Given the description of an element on the screen output the (x, y) to click on. 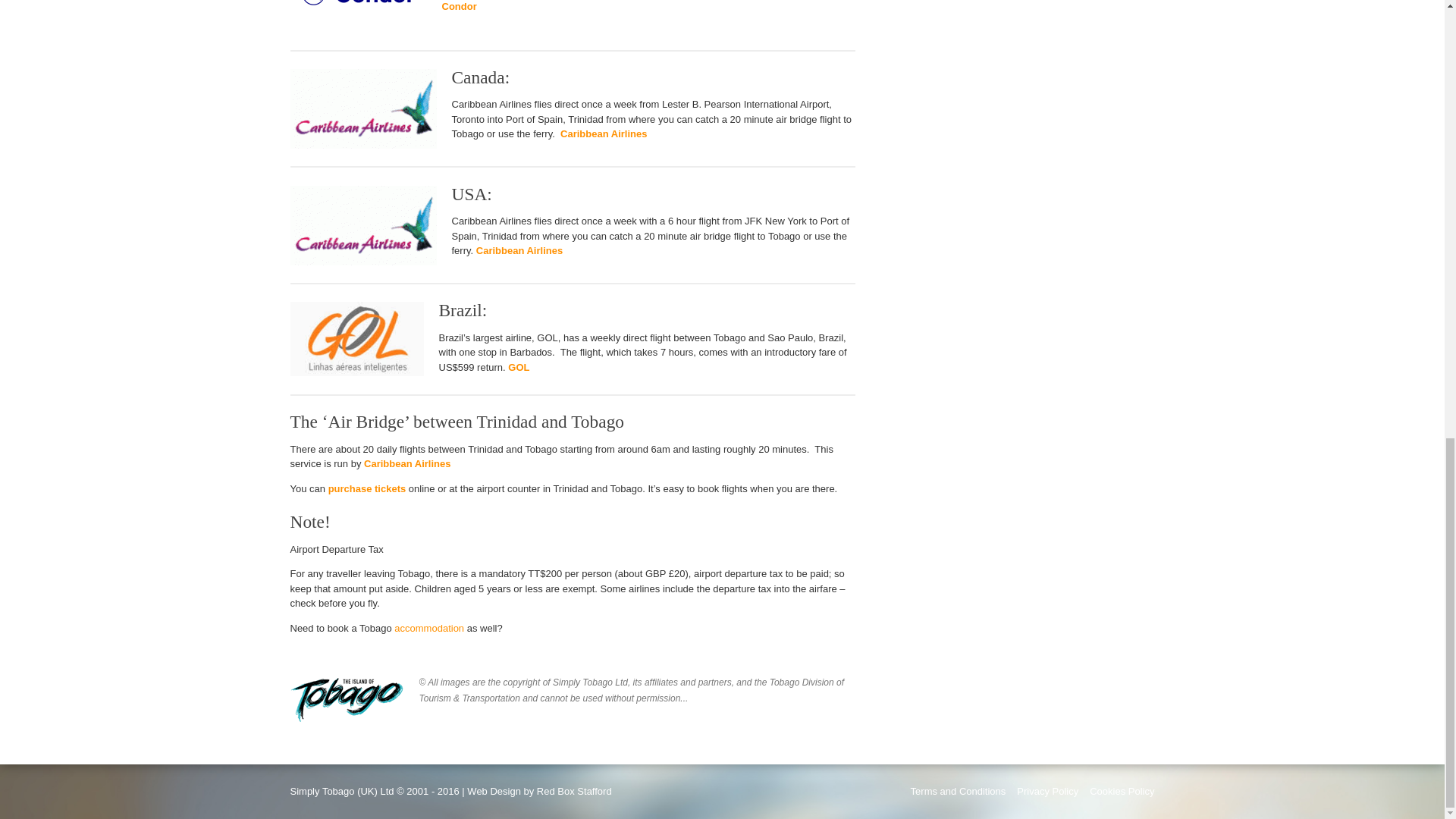
Condor (458, 6)
Caribbean Airlines (519, 250)
Caribbean Airlines (603, 133)
Condor flights (458, 6)
GOL airlines Brazil (518, 367)
